Given the description of an element on the screen output the (x, y) to click on. 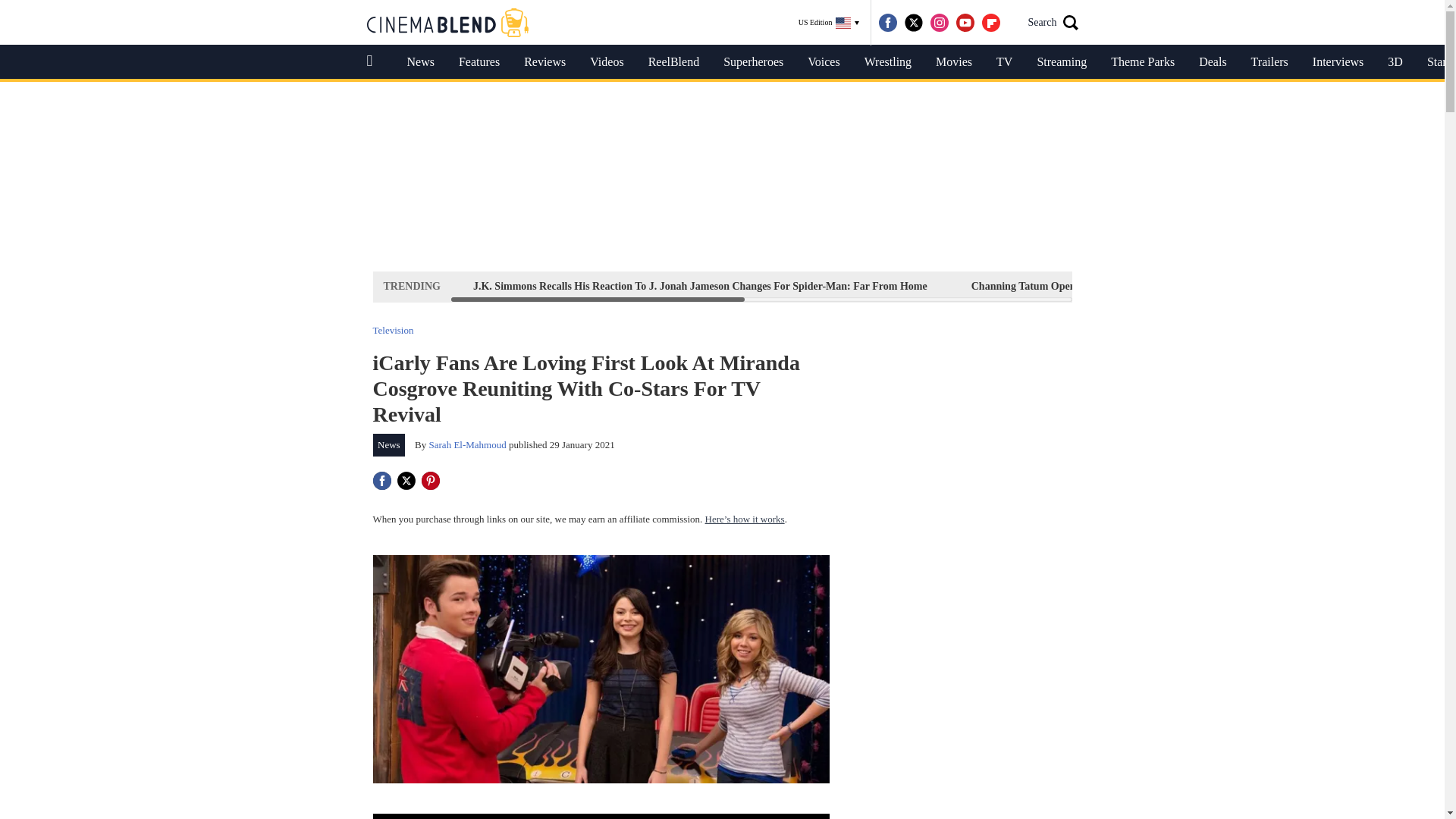
Movies (953, 61)
Features (479, 61)
Reviews (545, 61)
Trailers (1269, 61)
Television (392, 329)
Interviews (1337, 61)
2024 Upcoming Movies (1369, 286)
Wrestling (887, 61)
3D (1395, 61)
